Given the description of an element on the screen output the (x, y) to click on. 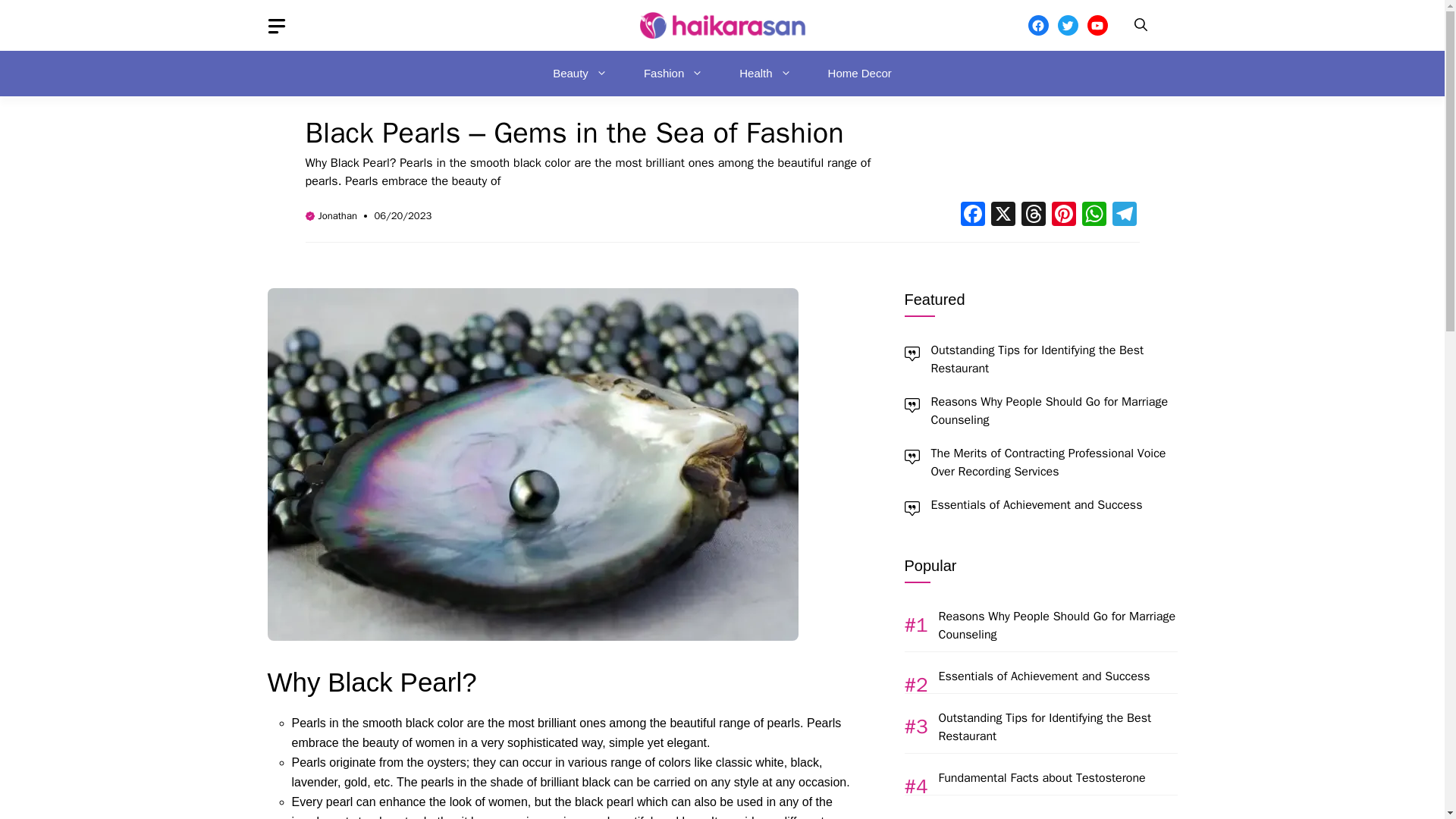
Telegram (1123, 215)
Outstanding Tips for Identifying the Best Restaurant (1037, 359)
Jonathan (337, 215)
Home Decor (859, 73)
Pinterest (1063, 215)
Health (764, 73)
Facebook (971, 215)
Telegram (1123, 215)
Twitter (1067, 25)
Reasons Why People Should Go for Marriage Counseling (1057, 625)
Beauty (580, 73)
YouTube (1097, 25)
Pinterest (1063, 215)
Facebook (1037, 25)
